Given the description of an element on the screen output the (x, y) to click on. 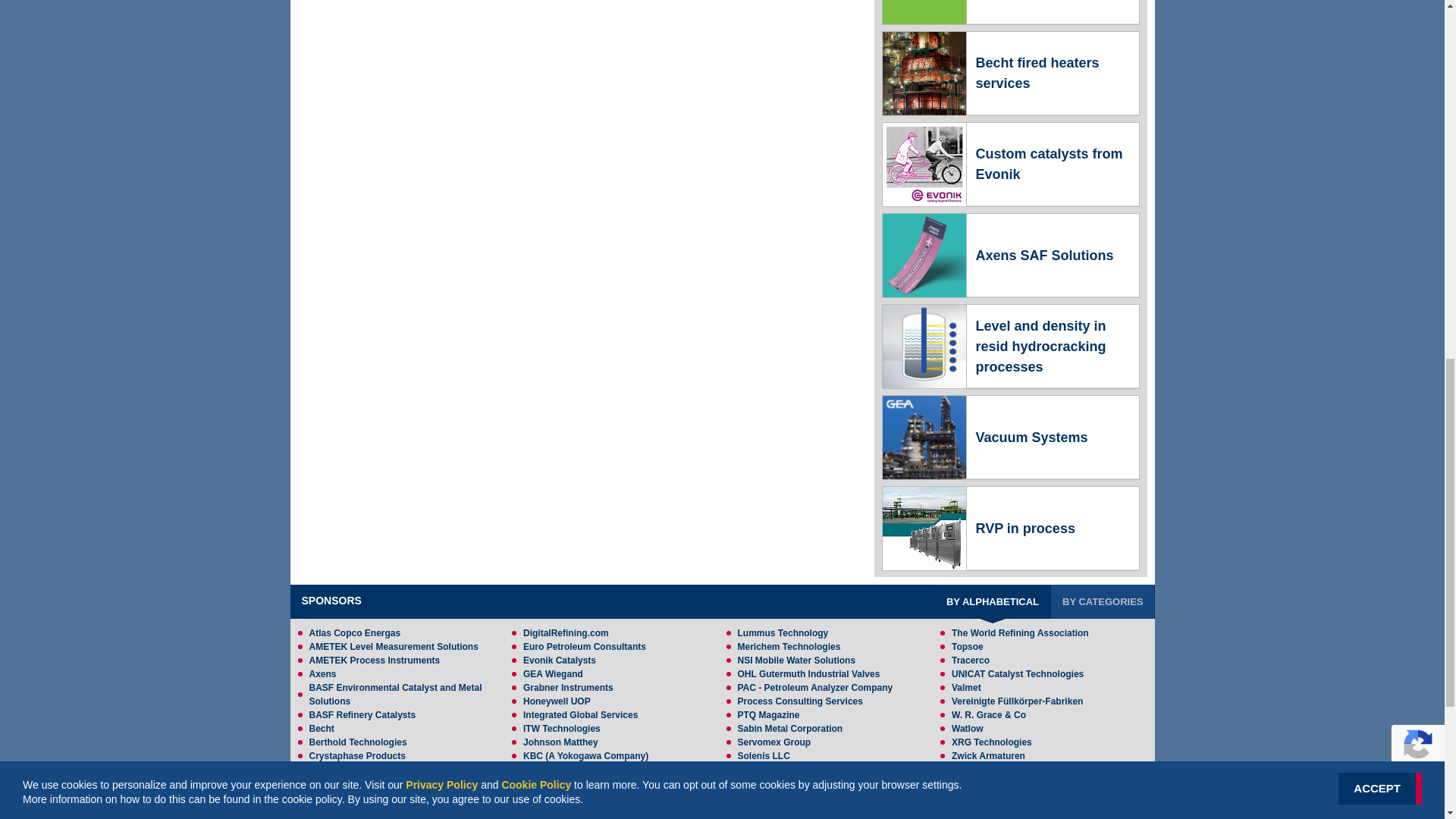
ACCEPT (1380, 2)
FCC Catalysts and Additives (1009, 12)
Privacy Policy (441, 0)
